Given the description of an element on the screen output the (x, y) to click on. 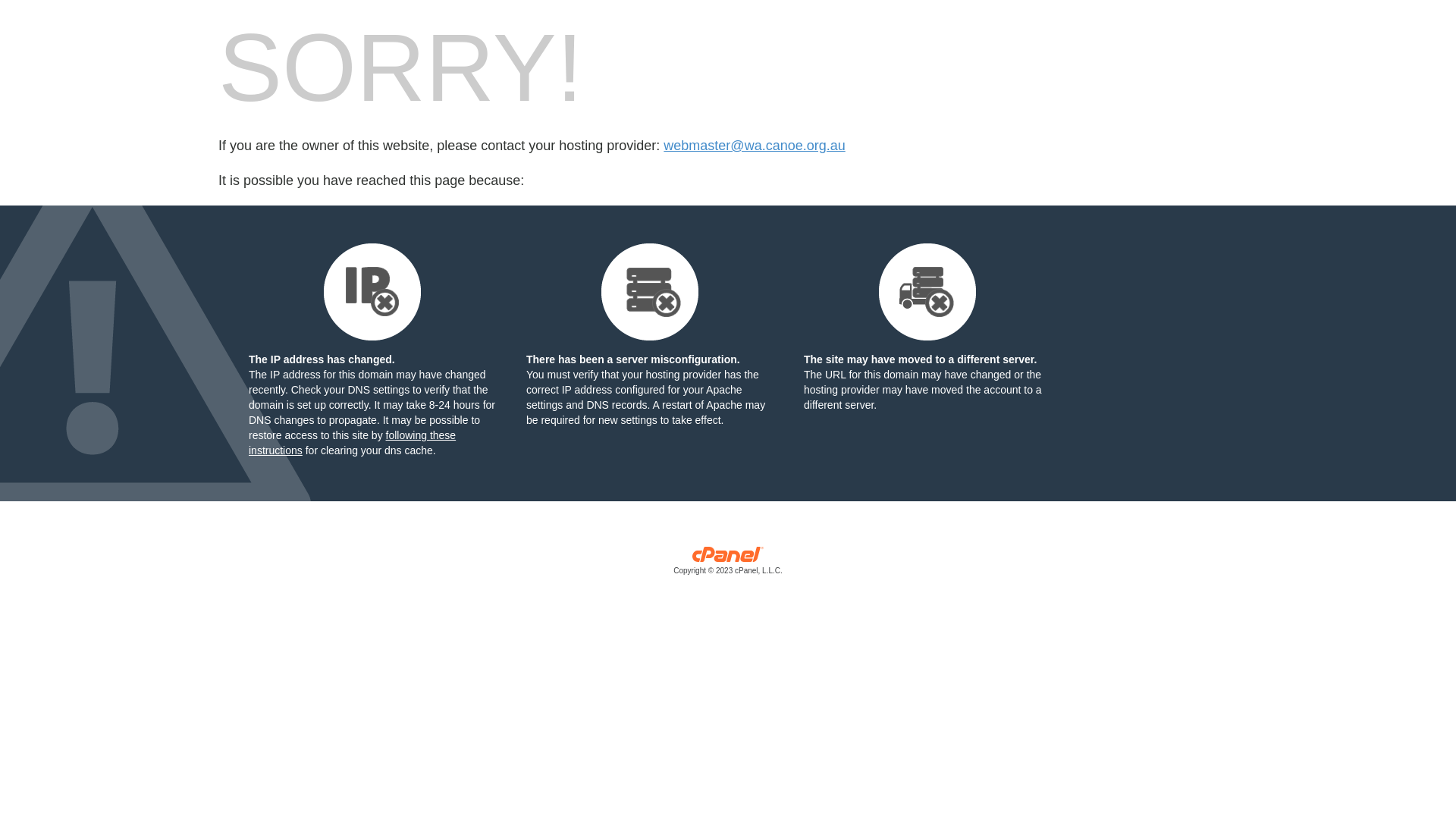
webmaster@wa.canoe.org.au Element type: text (753, 145)
following these instructions Element type: text (351, 442)
